Given the description of an element on the screen output the (x, y) to click on. 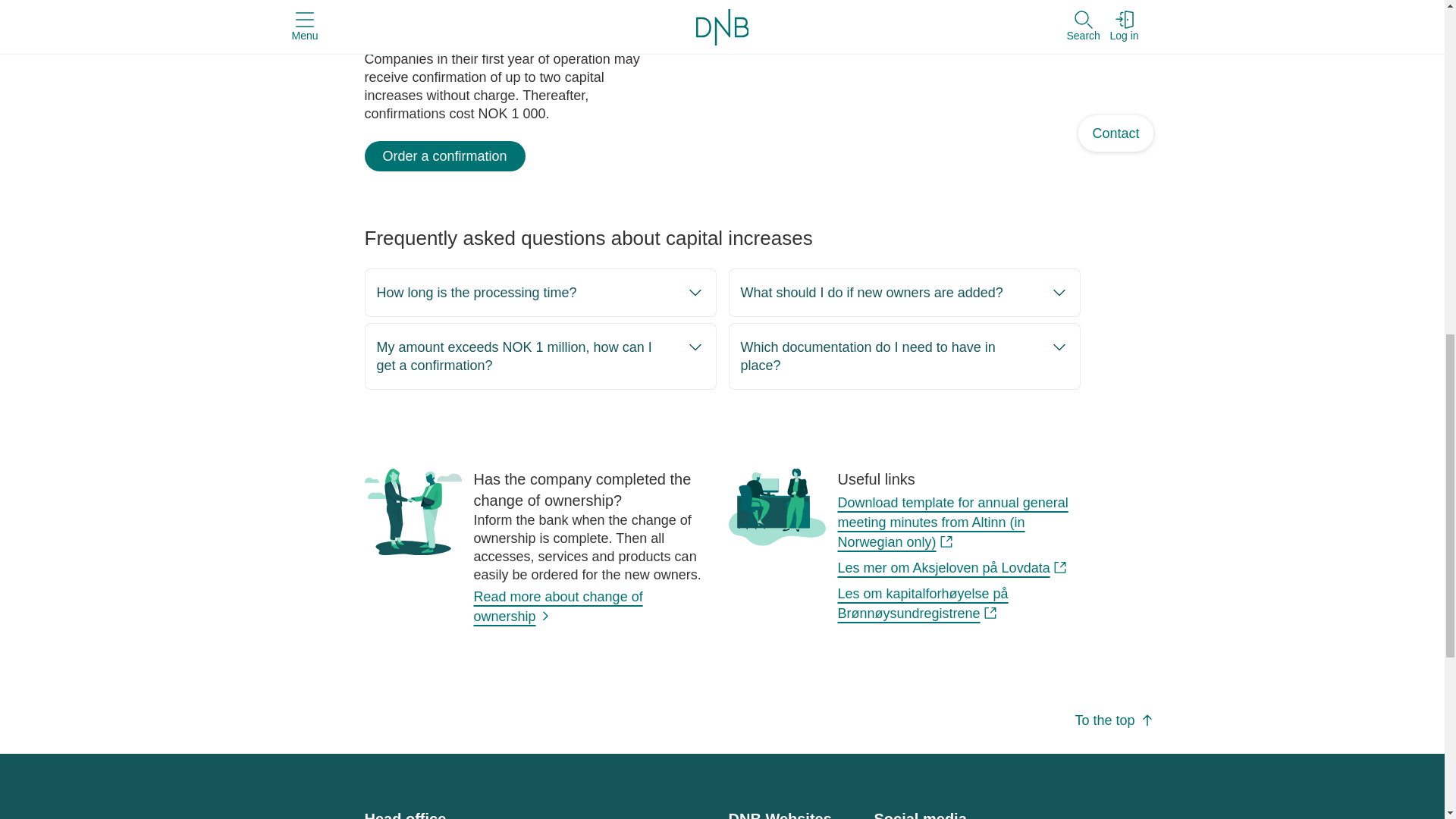
Opens a new window (922, 603)
Read more about change of ownership (557, 606)
Opens a new window (952, 522)
Opens a new window (952, 567)
